Given the description of an element on the screen output the (x, y) to click on. 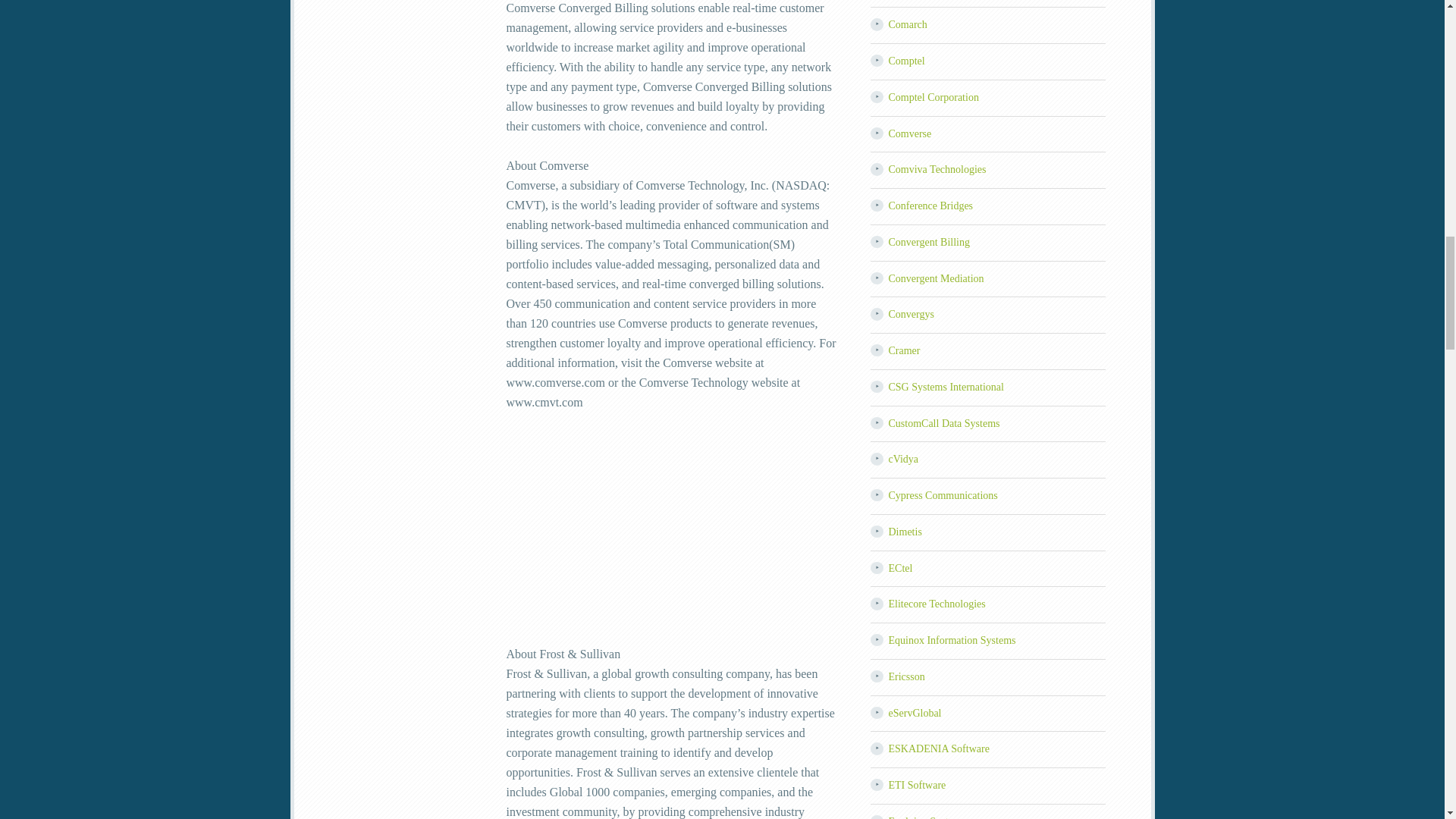
Advertisement (673, 538)
